Given the description of an element on the screen output the (x, y) to click on. 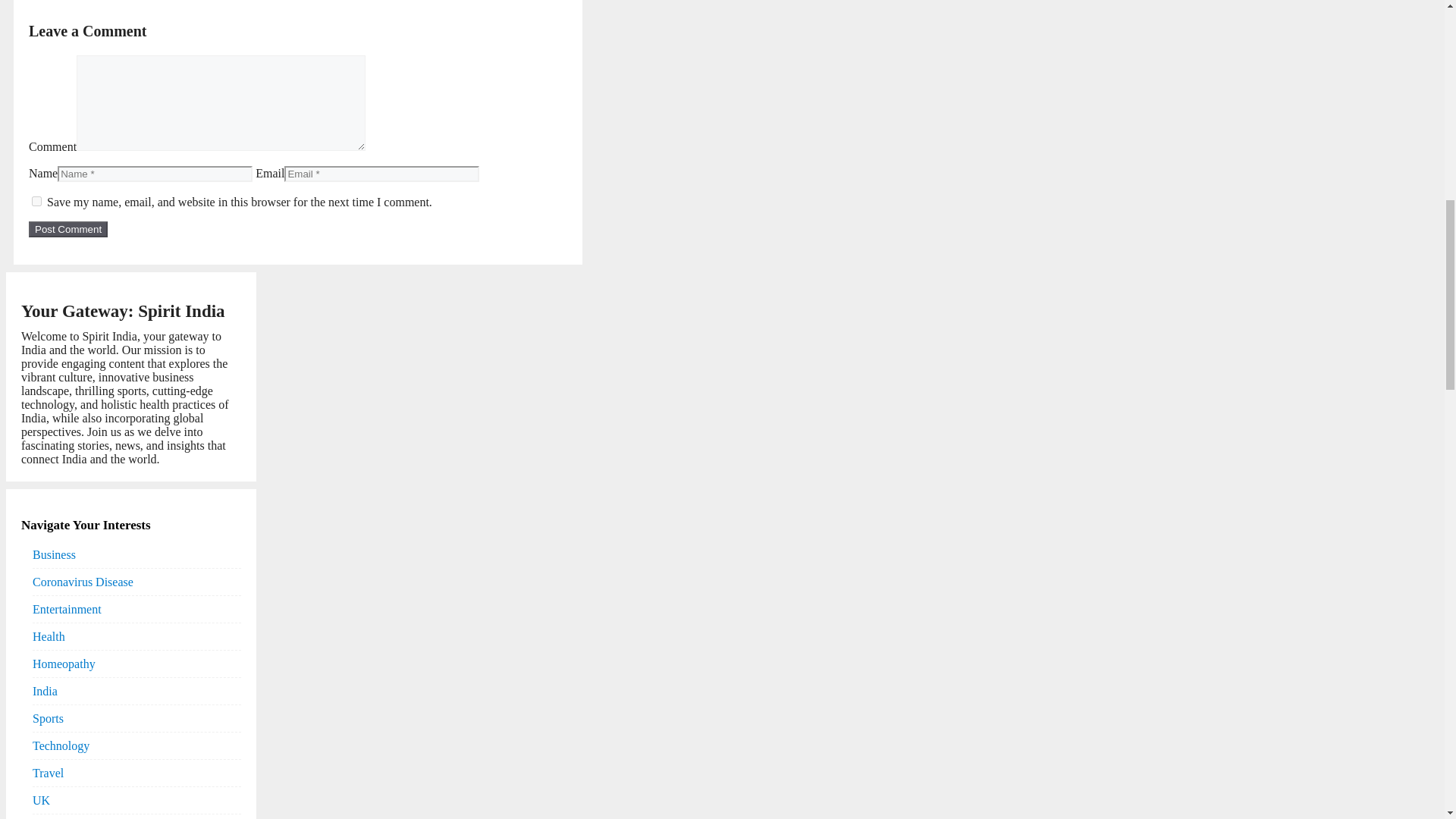
Post Comment (68, 229)
Post Comment (68, 229)
Coronavirus Disease (82, 581)
India (45, 691)
Travel (48, 773)
USA (44, 816)
Technology (60, 745)
Entertainment (66, 609)
Health (48, 636)
Sports (48, 718)
